Given the description of an element on the screen output the (x, y) to click on. 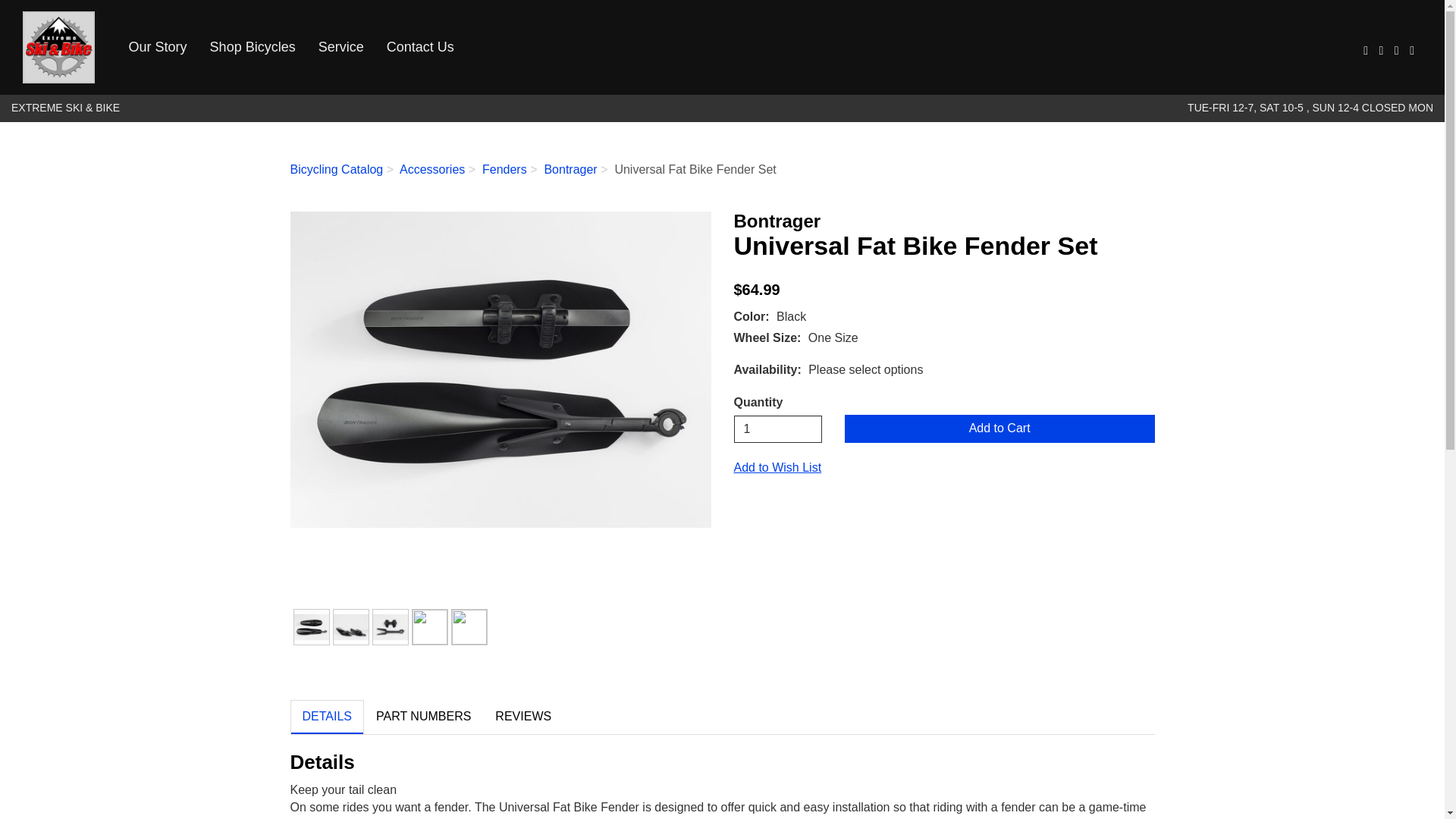
Our Story (157, 46)
1 (777, 429)
Bontrager Universal Fat Bike Fender Set (499, 369)
Color: Black (311, 626)
Shop Bicycles (252, 46)
